Given the description of an element on the screen output the (x, y) to click on. 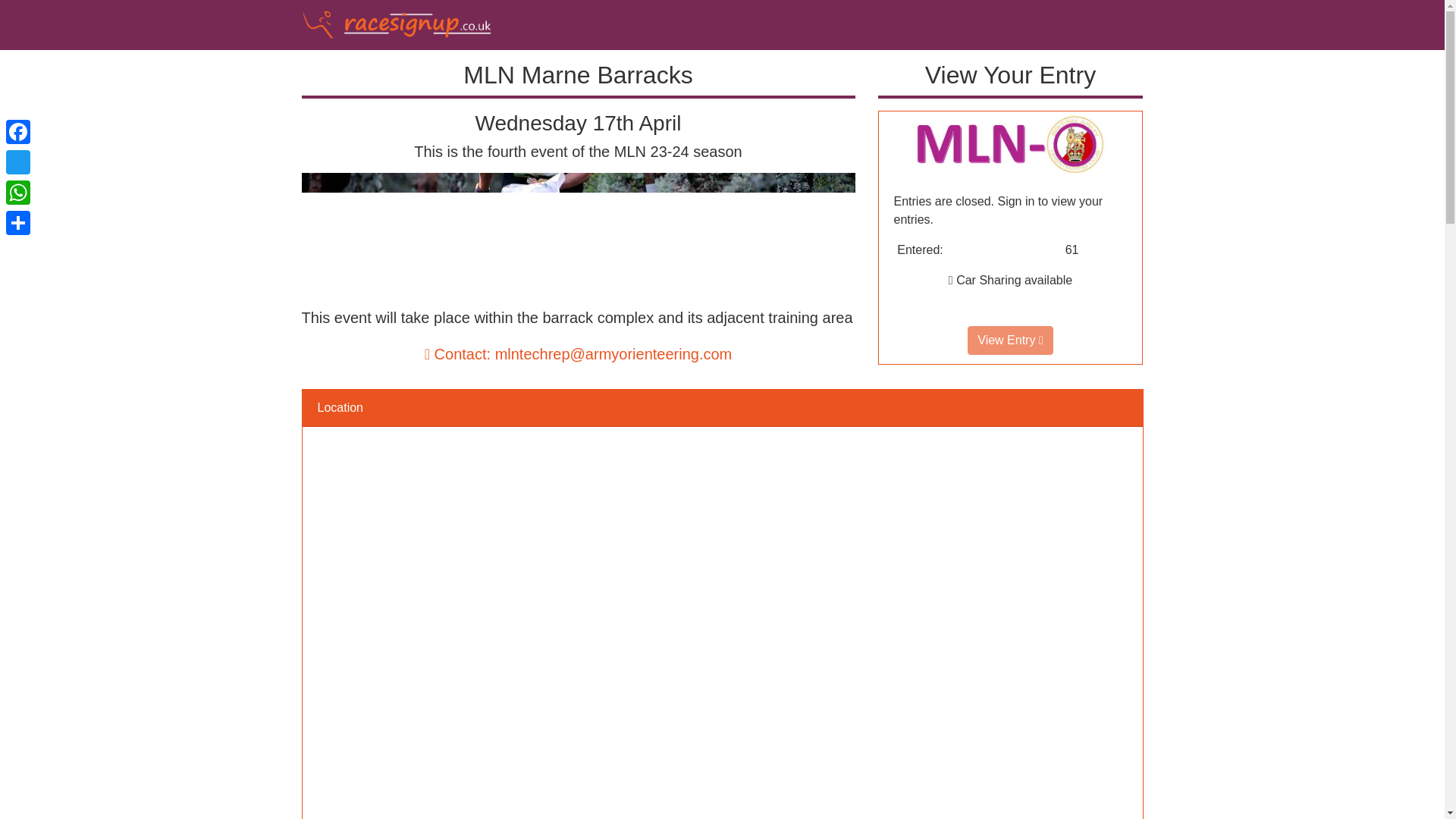
Share (17, 223)
Facebook (17, 132)
View Entry (1009, 143)
View Entry  (1010, 339)
Twitter (17, 162)
WhatsApp (17, 192)
